Given the description of an element on the screen output the (x, y) to click on. 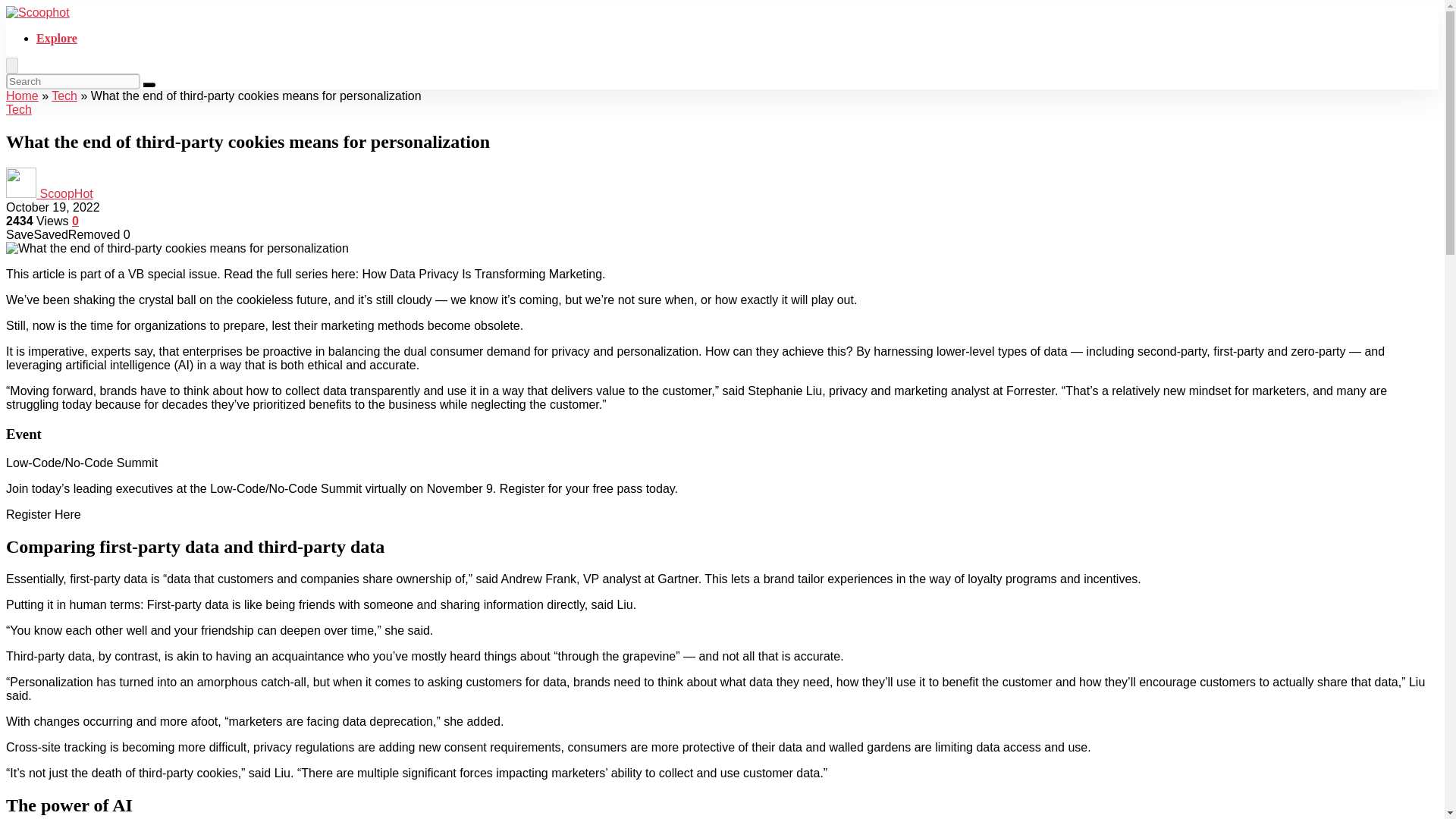
Home (22, 95)
View all posts in Tech (18, 109)
Tech (63, 95)
0 (74, 220)
Explore (56, 38)
Tech (18, 109)
ScoopHot (66, 193)
